Given the description of an element on the screen output the (x, y) to click on. 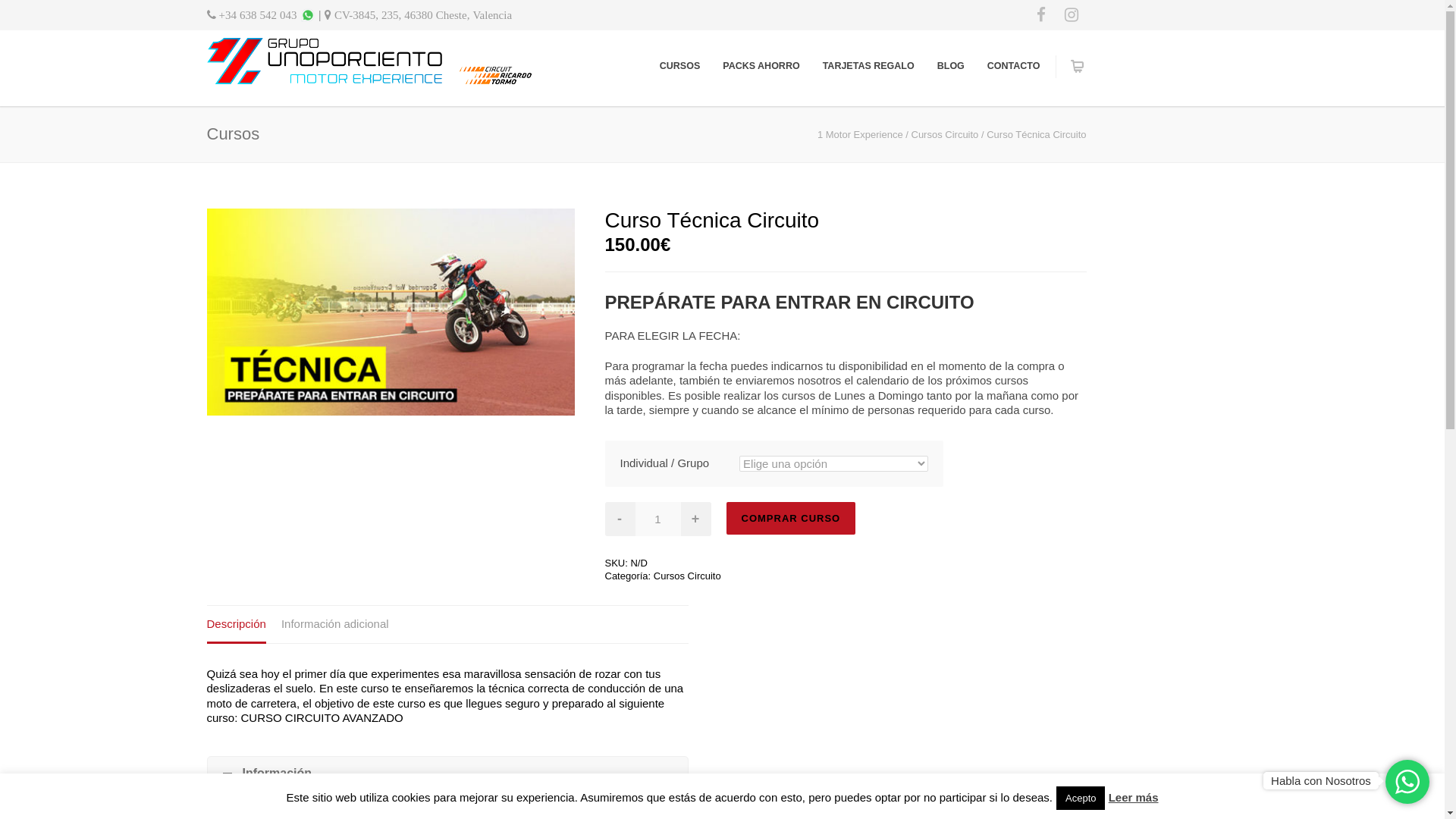
COMPRAR CURSO Element type: text (791, 518)
BLOG Element type: text (950, 65)
CONTACTO Element type: text (1013, 65)
+ Element type: text (695, 519)
CURSOS Element type: text (679, 65)
Cursos Circuito Element type: text (945, 134)
| CV-3845, 235, 46380 Cheste, Valencia Element type: text (413, 14)
+34 638 542 043 Element type: text (251, 14)
Cursos Circuito Element type: text (687, 575)
CIRCUITO_TECNICA Element type: hover (390, 311)
1 Motor Experience Element type: text (860, 134)
TARJETAS REGALO Element type: text (868, 65)
PACKS AHORRO Element type: text (760, 65)
- Element type: text (620, 519)
Cantidad Element type: hover (657, 519)
Habla con Nosotros Element type: text (1320, 780)
Facebook Element type: hover (1040, 15)
Instagram Element type: hover (1070, 15)
Acepto Element type: text (1080, 797)
